Given the description of an element on the screen output the (x, y) to click on. 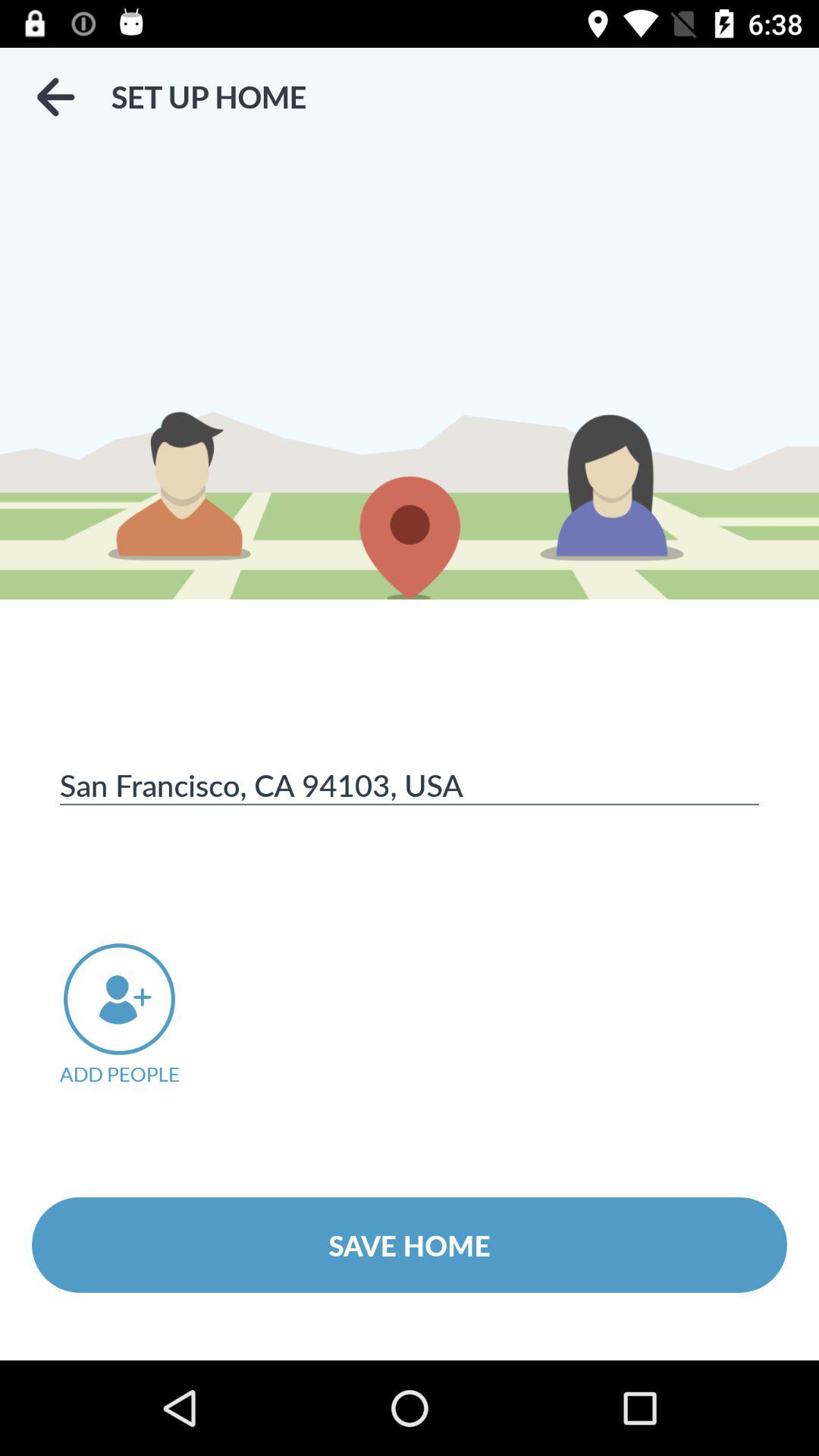
open the icon at the bottom left corner (140, 1014)
